Given the description of an element on the screen output the (x, y) to click on. 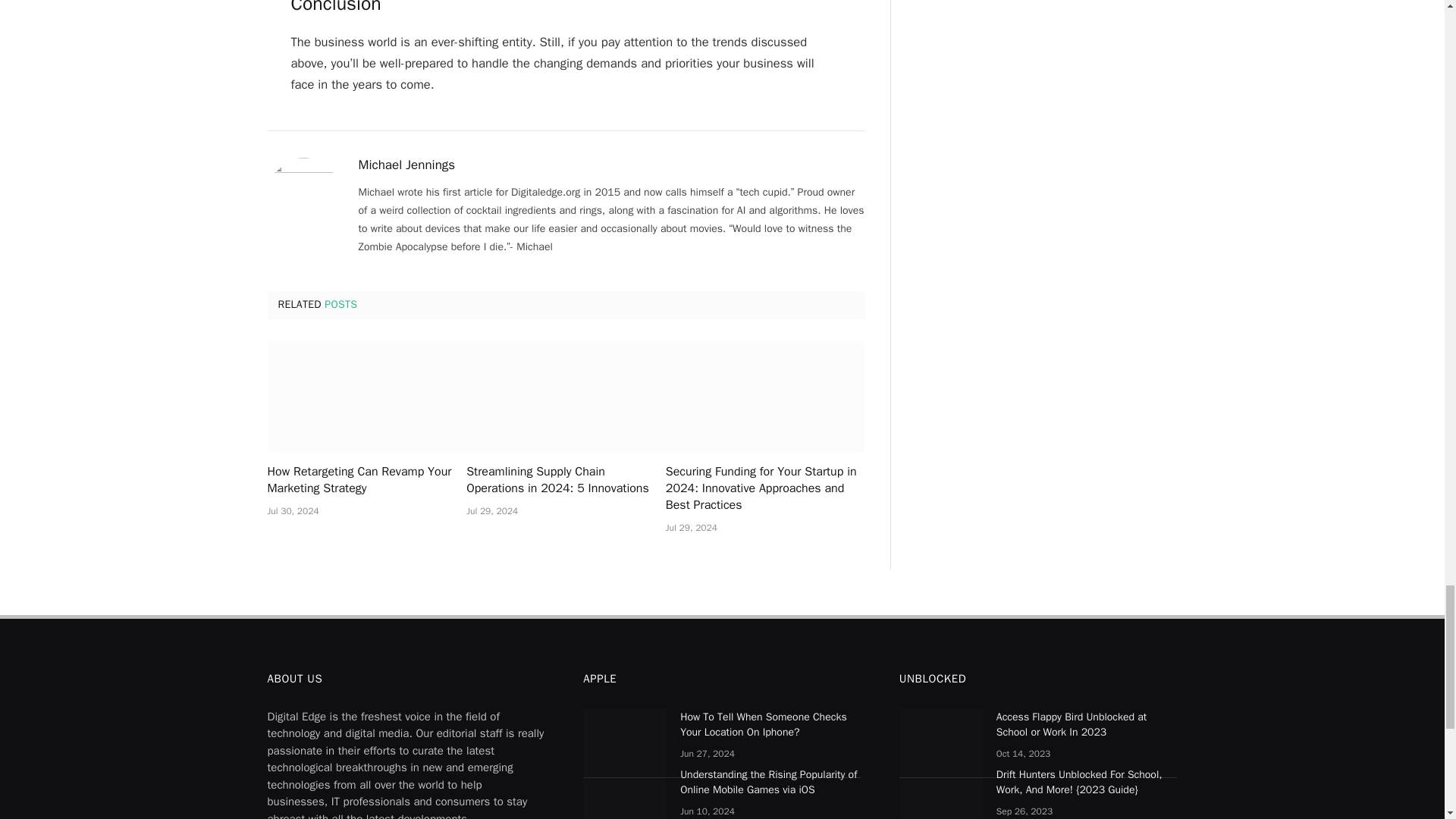
How Retargeting Can Revamp Your Marketing Strategy (365, 396)
Streamlining Supply Chain Operations in 2024: 5 Innovations (565, 396)
Posts by Michael Jennings (406, 165)
